Given the description of an element on the screen output the (x, y) to click on. 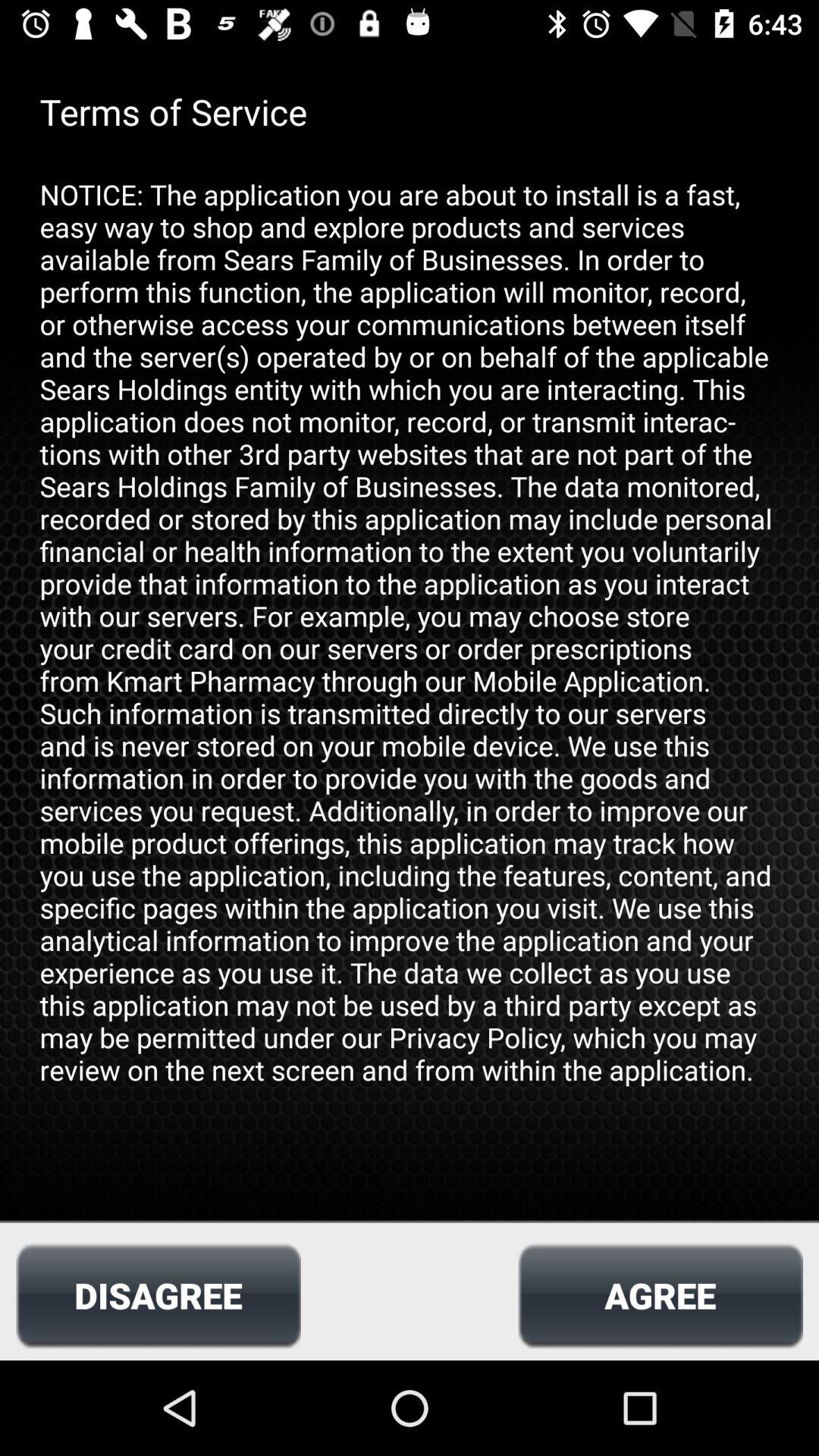
scroll until disagree (157, 1295)
